Given the description of an element on the screen output the (x, y) to click on. 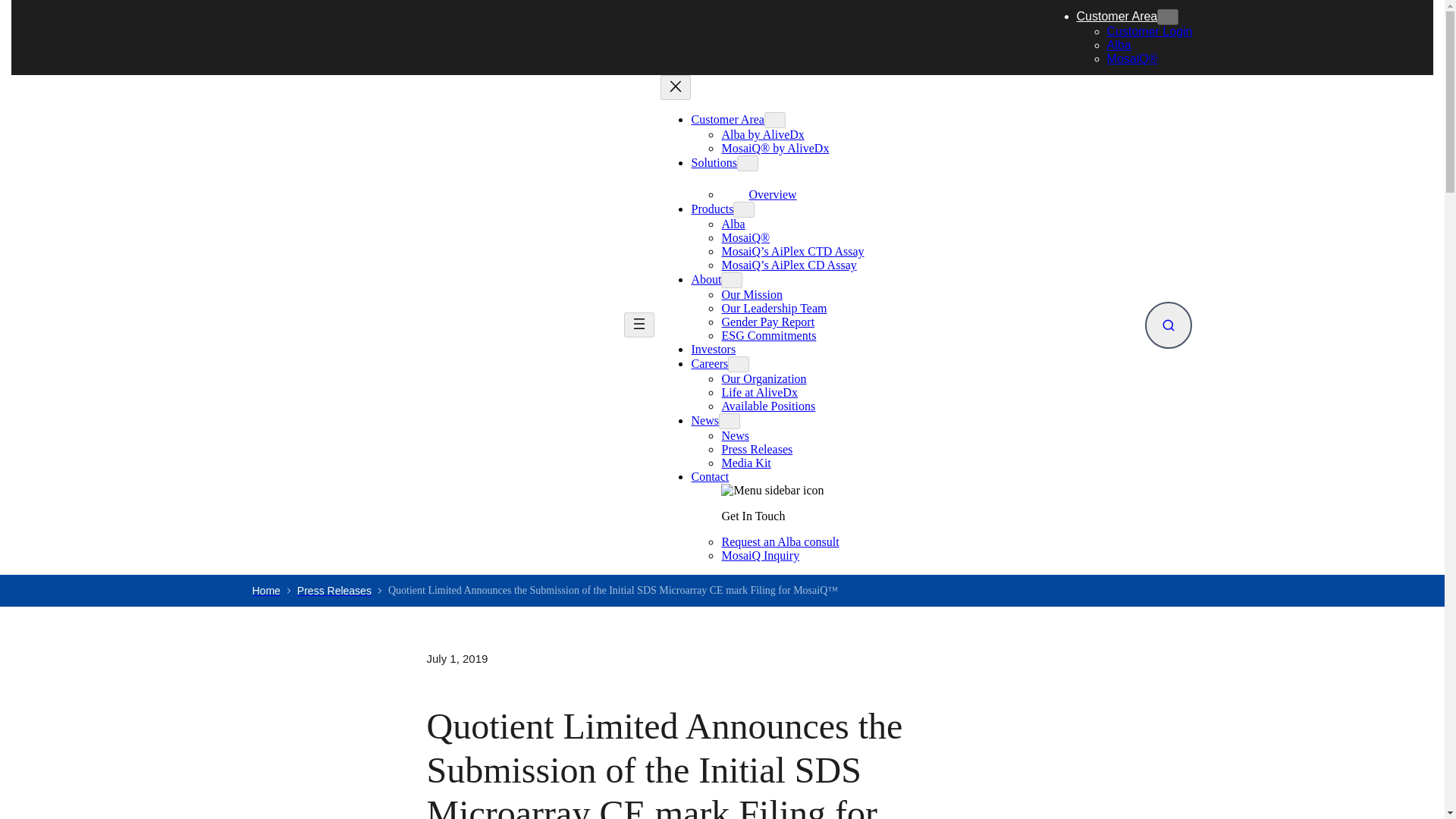
Investors (712, 349)
Customer Login (1149, 31)
Careers (709, 363)
Our Leadership Team (773, 308)
Our Mission (750, 294)
Gender Pay Report (766, 321)
Press Releases (756, 449)
About (705, 278)
Alba by AliveDx (761, 133)
News (734, 435)
